Given the description of an element on the screen output the (x, y) to click on. 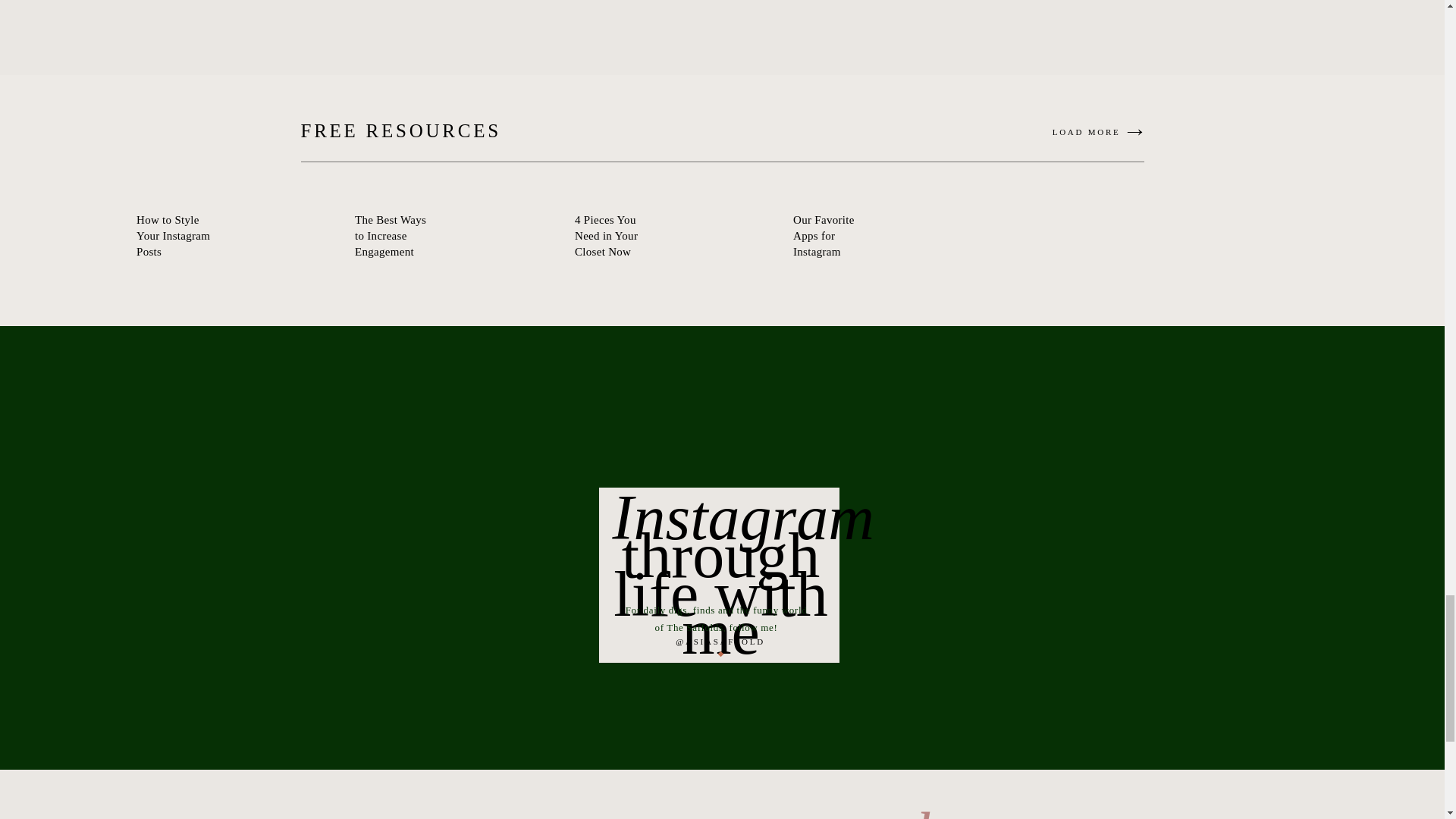
LOAD MORE (1047, 133)
